Given the description of an element on the screen output the (x, y) to click on. 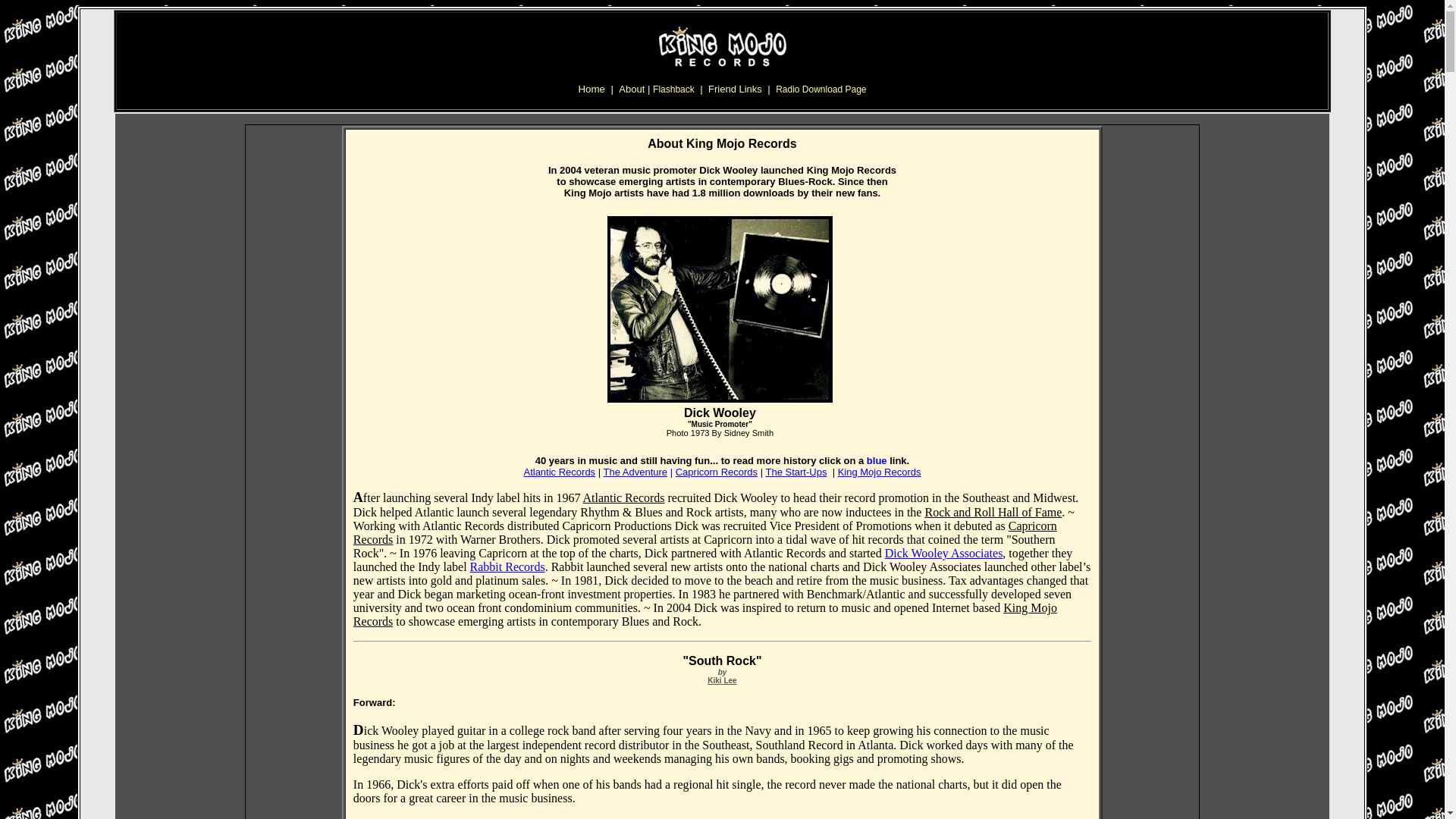
About (632, 88)
King Mojo Records (705, 614)
TOP (722, 101)
Kiki Lee (721, 680)
King Mojo Records (879, 471)
Atlantic Records (624, 497)
"South Rock" (721, 660)
Capricorn Records (705, 532)
Radio Download Page (821, 89)
Flashback (673, 89)
Capricorn Records (716, 471)
Rock and Roll Hall of Fame (992, 512)
Atlantic Records (558, 471)
The Start-Ups (796, 471)
Rabbit Records (507, 566)
